Given the description of an element on the screen output the (x, y) to click on. 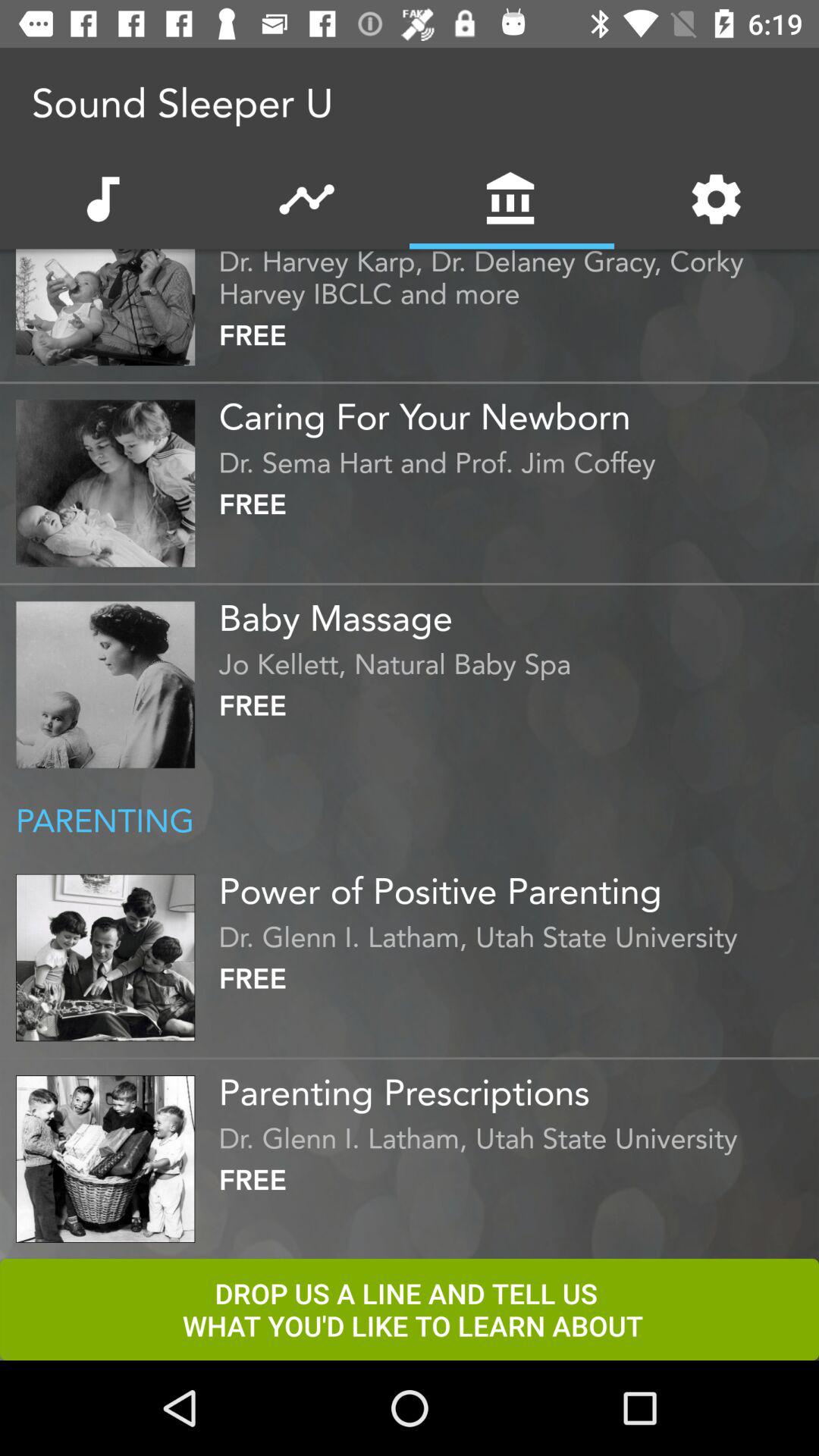
swipe until the baby massage icon (515, 612)
